Given the description of an element on the screen output the (x, y) to click on. 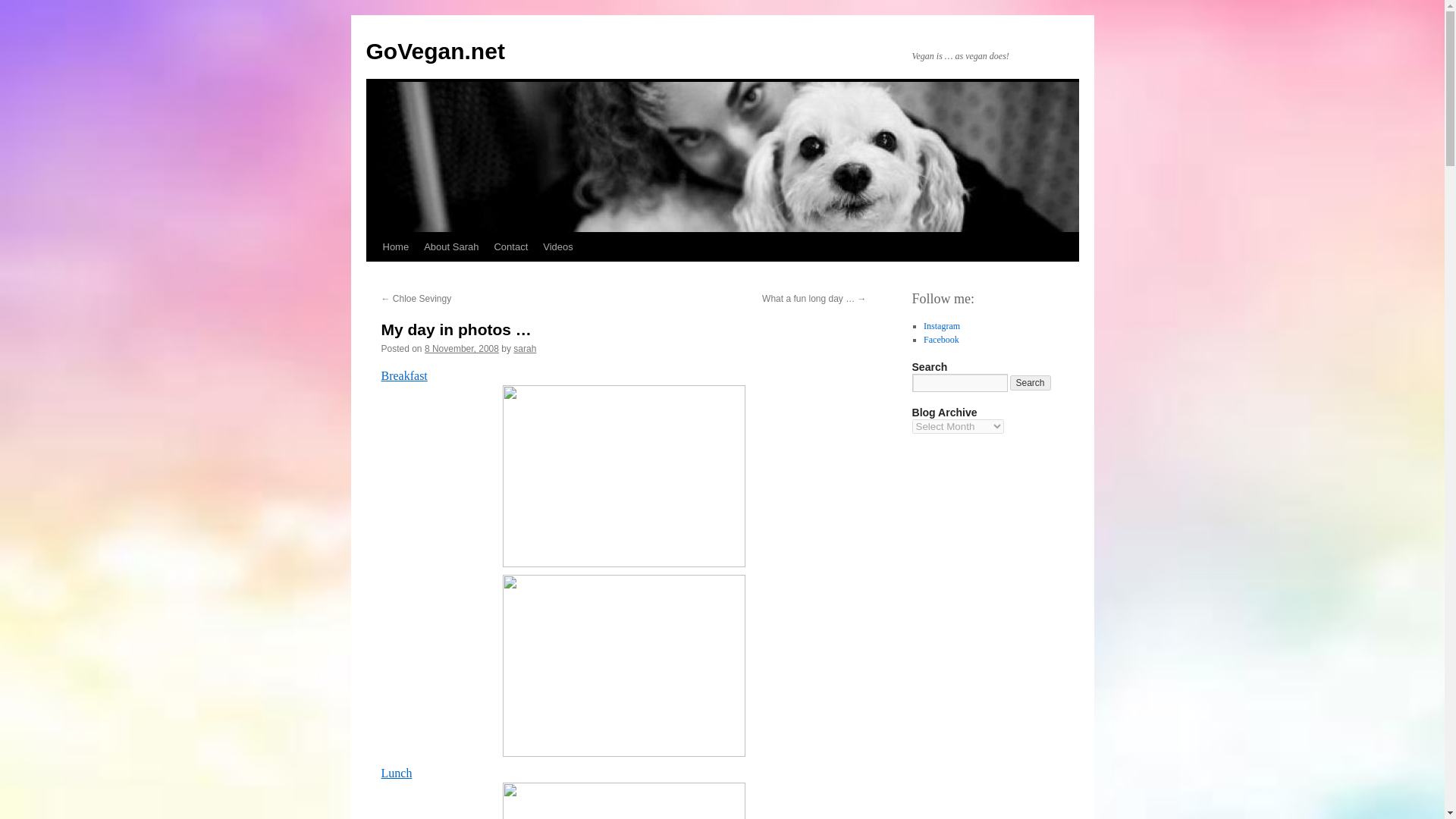
sarah (524, 348)
GoVegan.net (434, 50)
Videos (557, 246)
Lunch (396, 772)
Breakfast (403, 375)
Facebook (941, 339)
Search (1030, 382)
View all posts by sarah (524, 348)
8 November, 2008 (462, 348)
Home (395, 246)
